Given the description of an element on the screen output the (x, y) to click on. 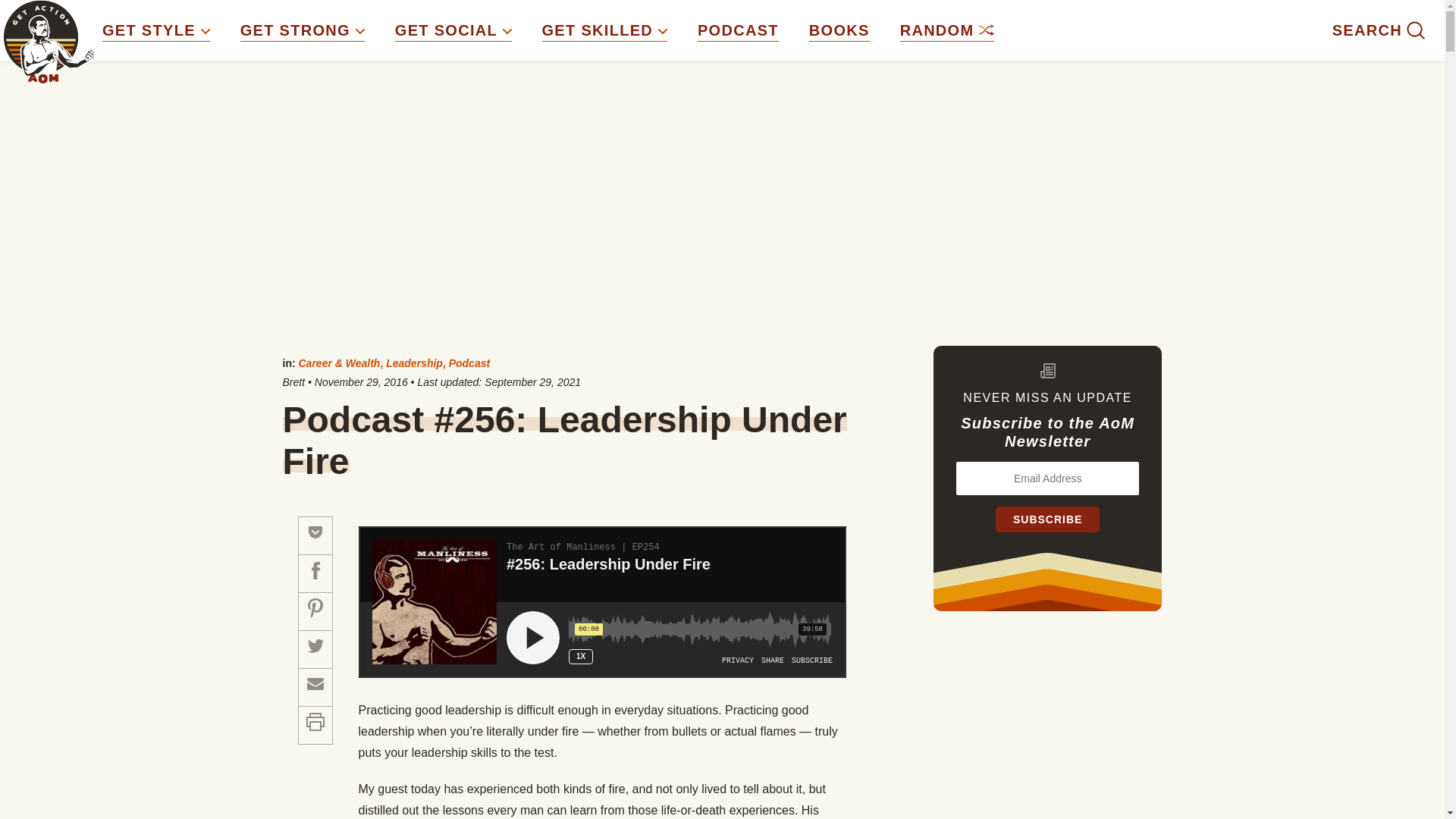
Subscribe (1047, 519)
GET SOCIAL (453, 30)
RANDOM (946, 30)
GET SKILLED (603, 30)
PODCAST (737, 30)
GET STRONG (302, 30)
GET STYLE (155, 30)
BOOKS (839, 30)
3rd party ad content (1047, 730)
